Given the description of an element on the screen output the (x, y) to click on. 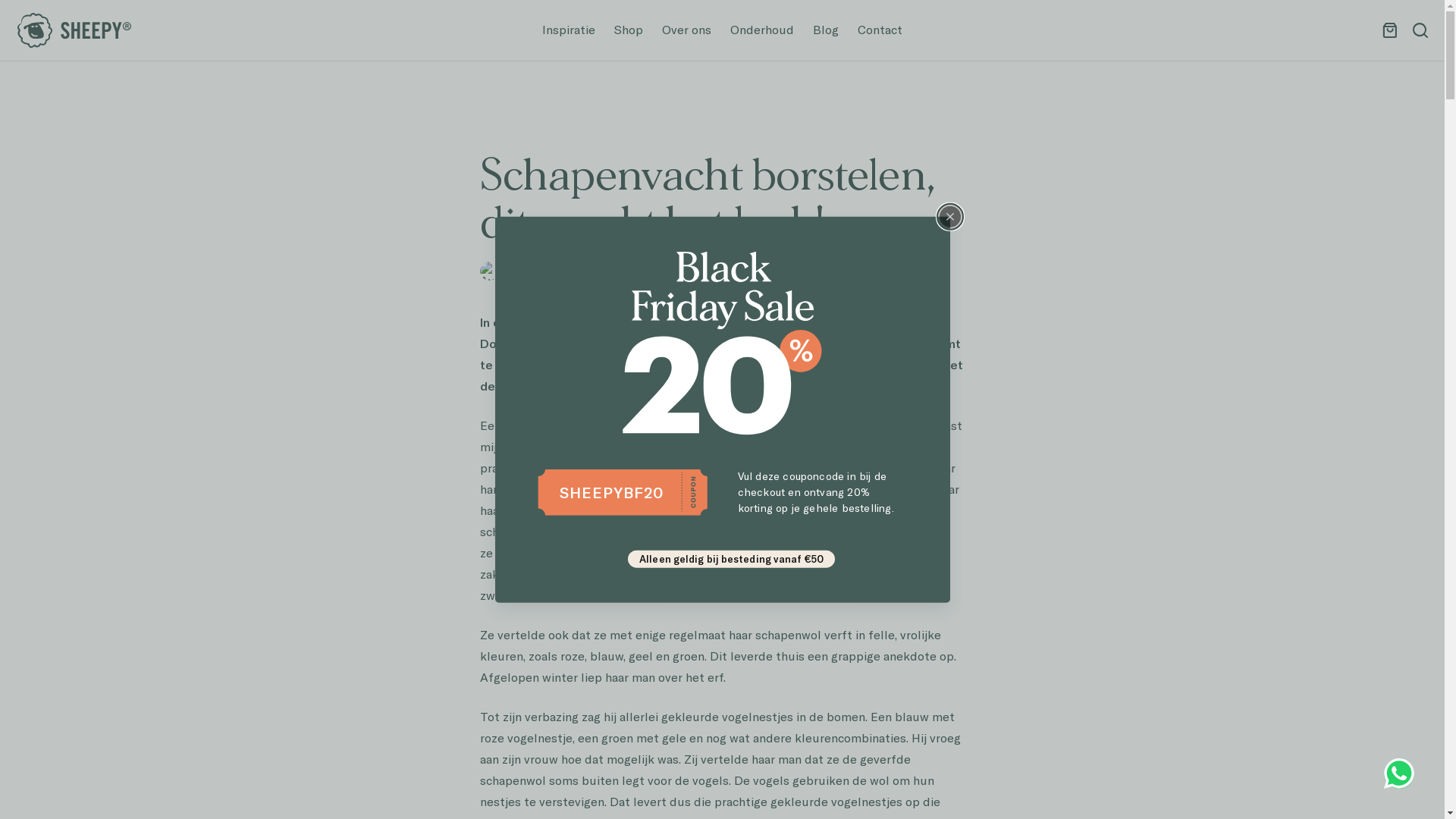
Ga naar de inhoud Element type: text (15, 7)
Onderhoud Element type: text (761, 30)
Geen categorie Element type: text (779, 269)
Inspiratie Element type: text (568, 30)
Shop Element type: text (628, 30)
eerdere blog Element type: text (553, 322)
WhatsApp us Element type: hover (1398, 773)
SHEEPYBF20 Element type: text (611, 492)
Contact Element type: text (879, 30)
Blog Element type: text (825, 30)
Natasja Hebing Element type: text (548, 269)
Over ons Element type: text (686, 30)
